Given the description of an element on the screen output the (x, y) to click on. 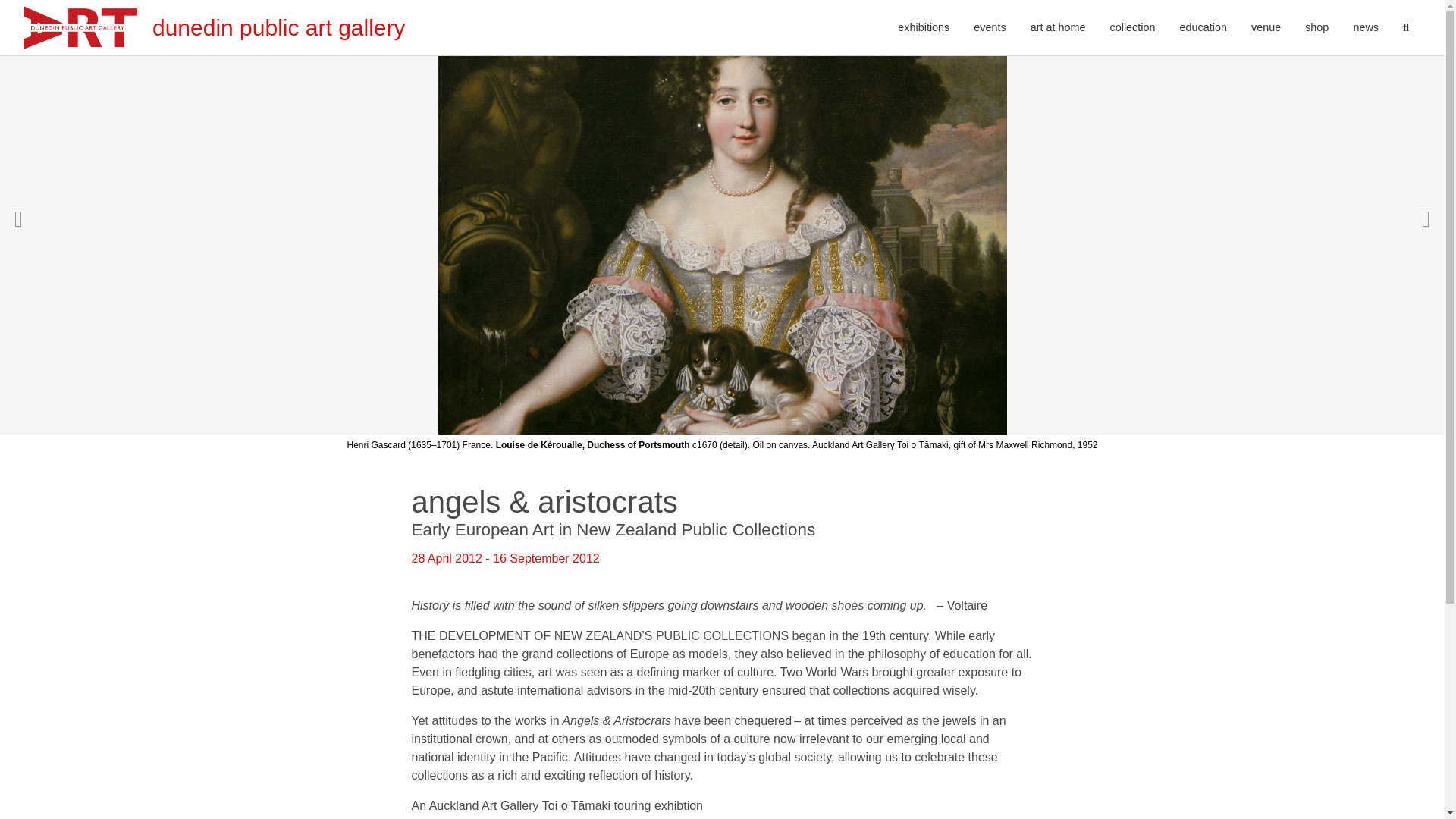
exhibitions (922, 27)
art at home (1057, 27)
shop (1316, 27)
dunedin public art gallery (214, 27)
venue (1265, 27)
news (1365, 27)
education (1203, 27)
events (988, 27)
collection (1132, 27)
